Given the description of an element on the screen output the (x, y) to click on. 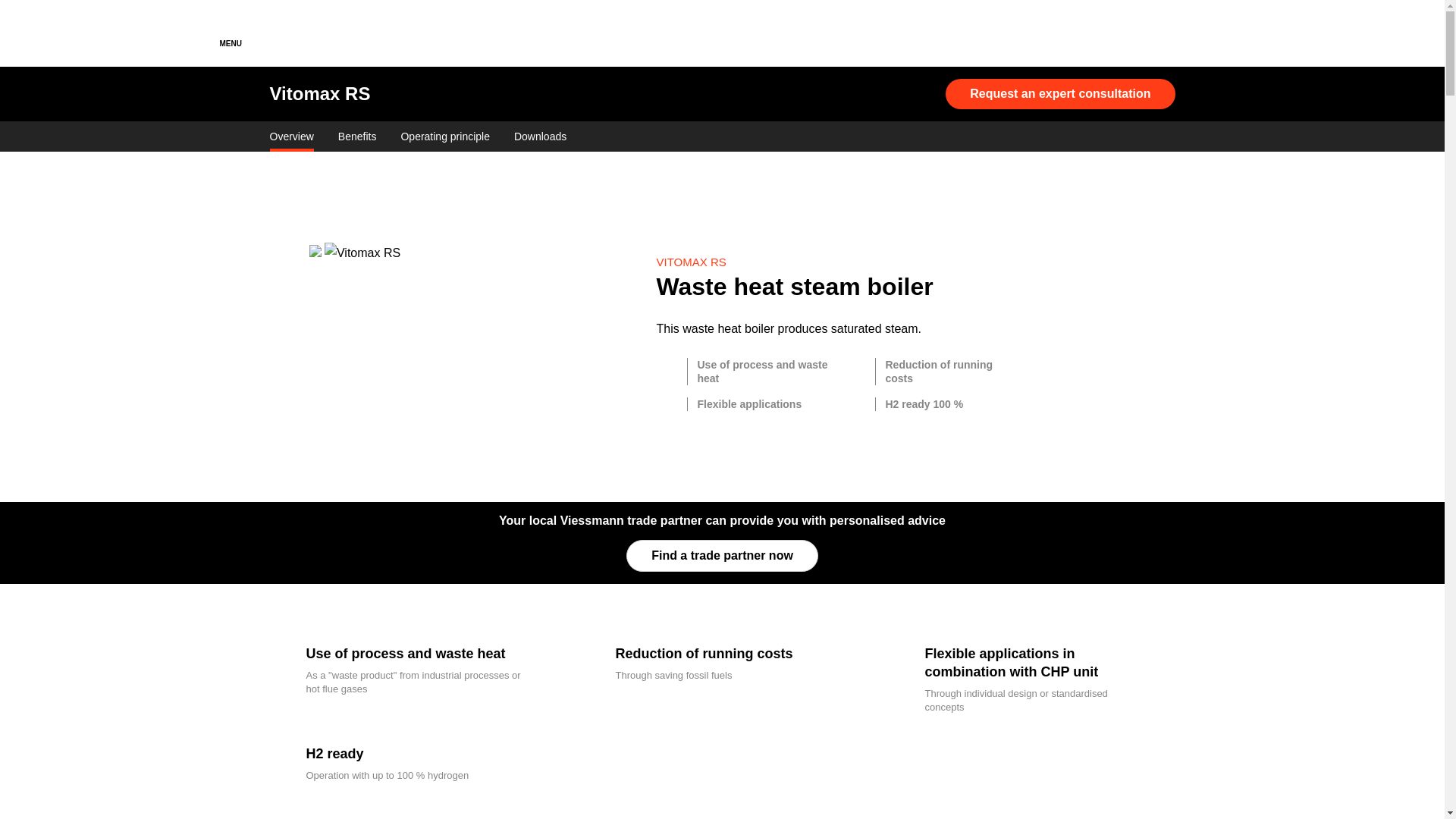
Request an expert consultation (1059, 93)
MENU (230, 33)
